Given the description of an element on the screen output the (x, y) to click on. 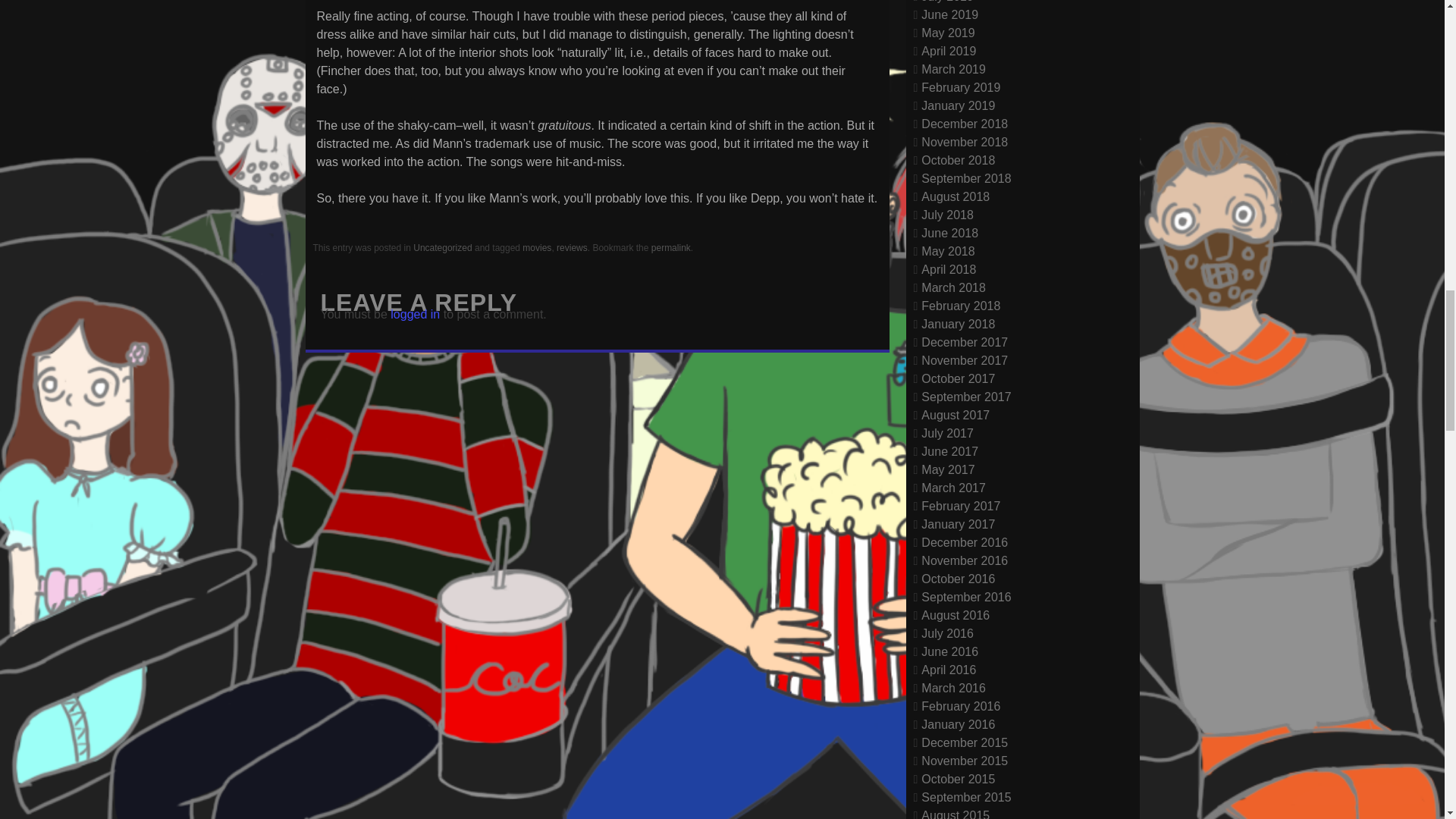
permalink (670, 247)
movies (536, 247)
Uncategorized (442, 247)
reviews (572, 247)
logged in (414, 314)
Permalink to Public What? Oh, Enemies? (670, 247)
